Given the description of an element on the screen output the (x, y) to click on. 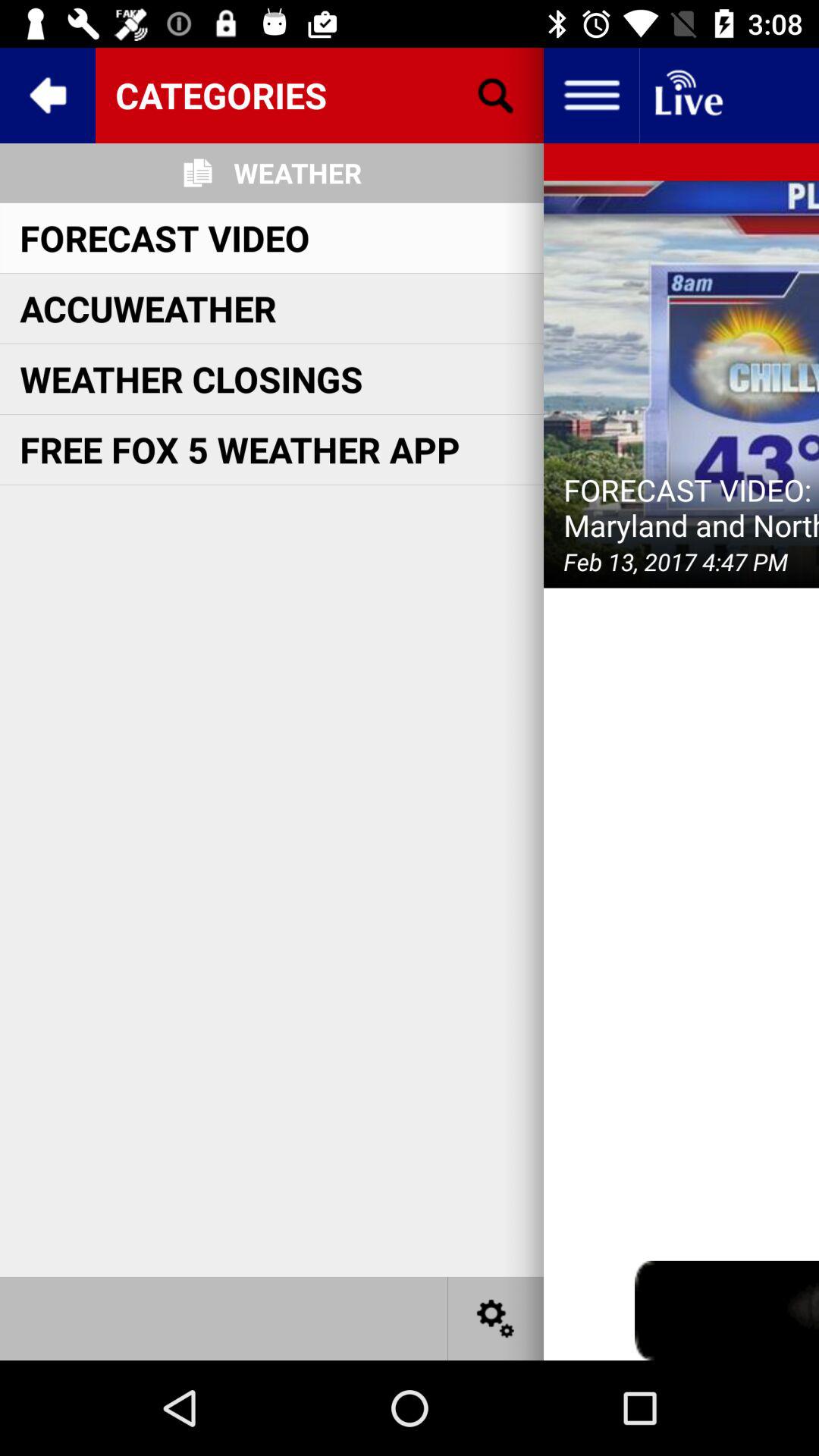
back button (47, 95)
